Given the description of an element on the screen output the (x, y) to click on. 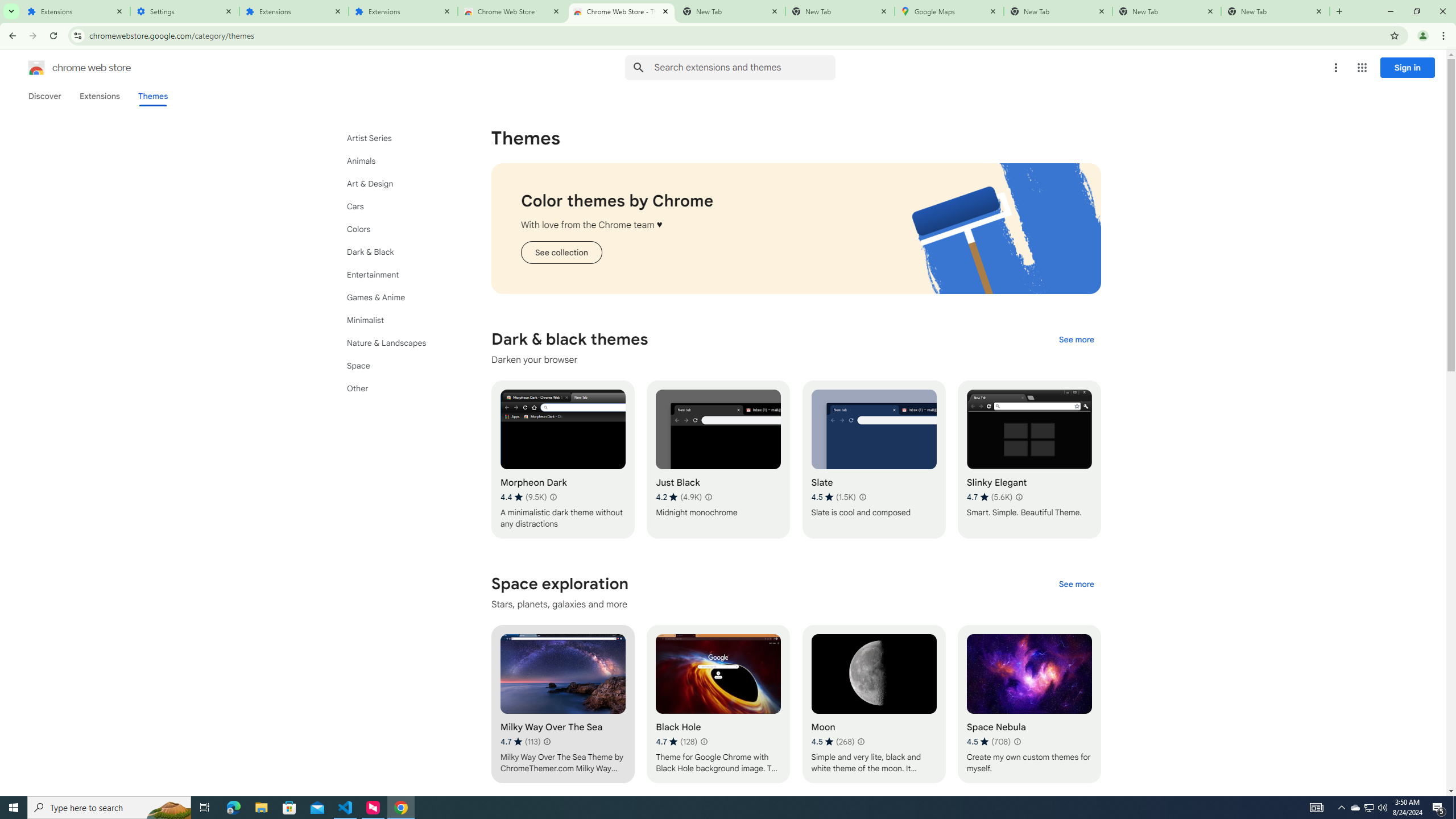
Games & Anime (398, 296)
Settings (184, 11)
Morpheon Dark (562, 459)
Average rating 4.7 out of 5 stars. 113 ratings. (519, 741)
Average rating 4.5 out of 5 stars. 268 ratings. (832, 741)
Learn more about results and reviews "Morpheon Dark" (552, 496)
List of categories in Chrome Web Store. (398, 262)
Learn more about results and reviews "Space Nebula" (1016, 741)
Space Nebula (1028, 703)
See more of the "Space exploration" collection (1075, 583)
Cars (398, 205)
